Given the description of an element on the screen output the (x, y) to click on. 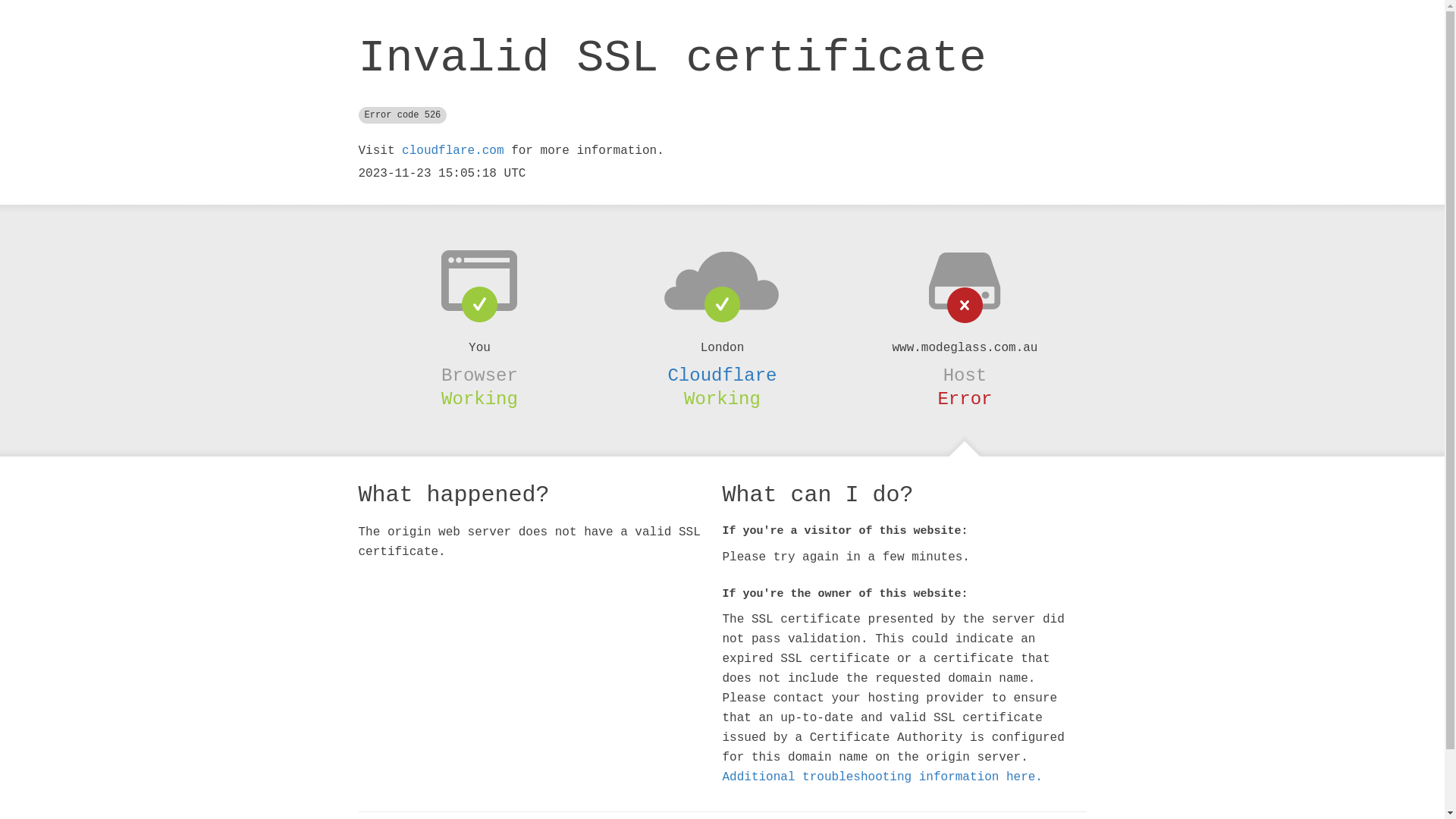
Additional troubleshooting information here. Element type: text (881, 777)
Cloudflare Element type: text (721, 375)
cloudflare.com Element type: text (452, 150)
